Given the description of an element on the screen output the (x, y) to click on. 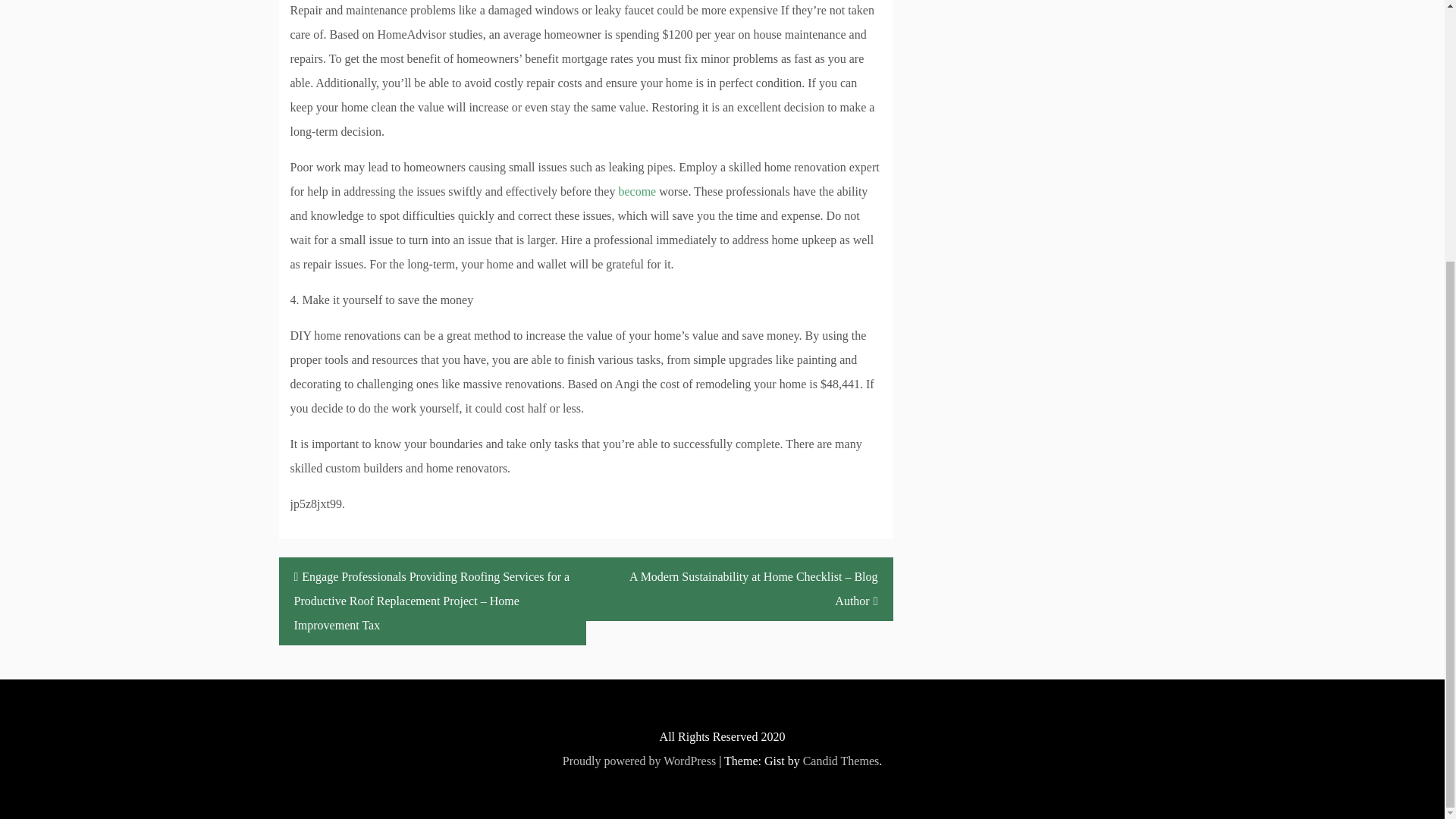
become (636, 191)
Candid Themes (841, 760)
Proudly powered by WordPress (639, 760)
